Given the description of an element on the screen output the (x, y) to click on. 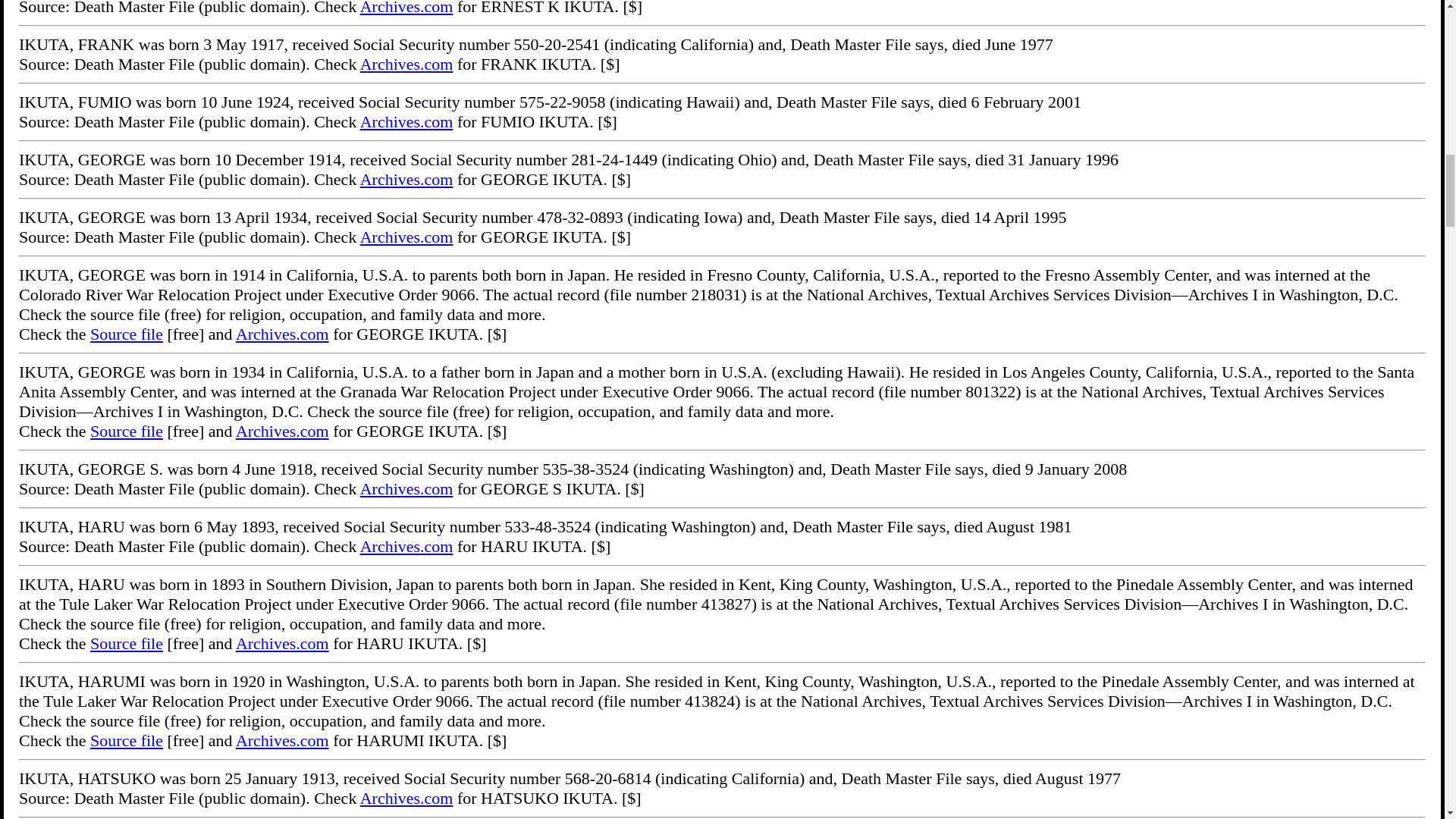
Archives.com (405, 7)
Source file (126, 430)
Archives.com (405, 121)
Source file (126, 333)
Archives.com (282, 333)
Archives.com (405, 179)
Archives.com (405, 236)
Archives.com (405, 63)
Archives.com (282, 430)
